Given the description of an element on the screen output the (x, y) to click on. 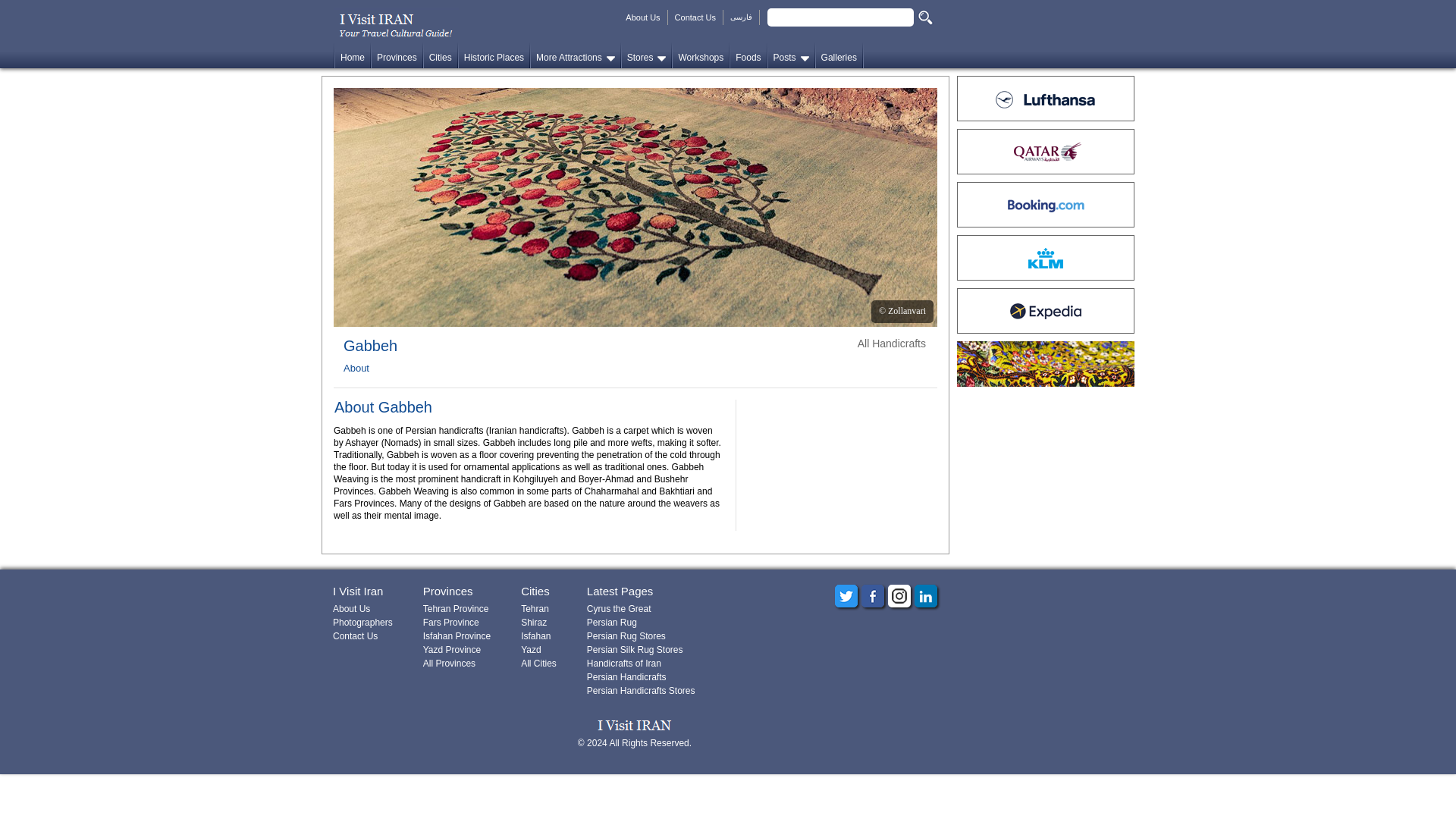
More Attractions (571, 54)
Historic Places (493, 54)
Foods (747, 54)
Home (351, 54)
Workshops (700, 54)
Contact Us (695, 17)
Posts (788, 54)
Stores (643, 54)
Cities (439, 54)
About Us (642, 17)
